Given the description of an element on the screen output the (x, y) to click on. 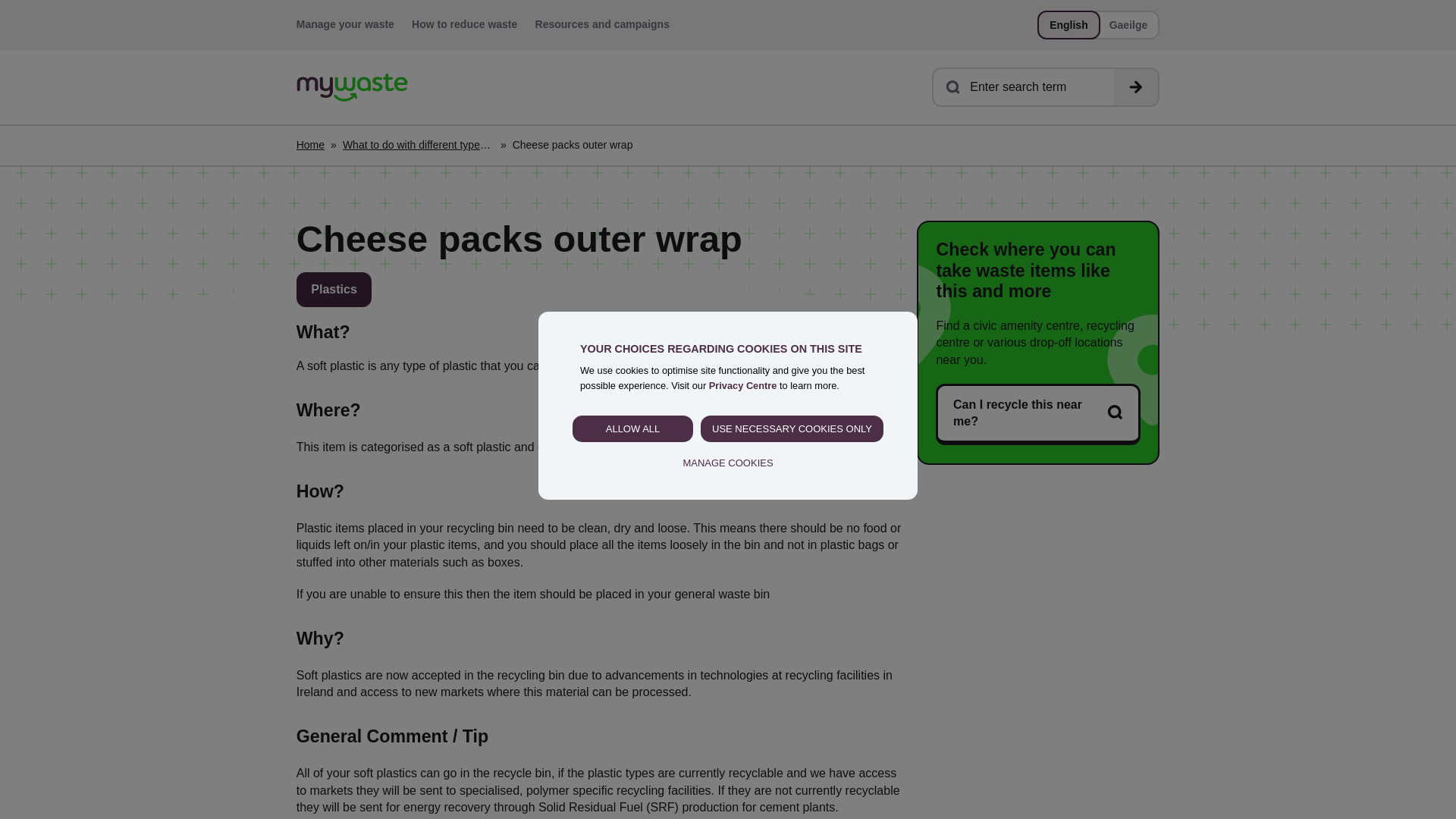
How to reduce waste (464, 24)
USE NECESSARY COOKIES ONLY (791, 429)
Home (352, 87)
Can I recycle this near me? (1038, 414)
ALLOW ALL (632, 429)
Gaeilge (1129, 25)
Resources and campaigns (602, 24)
Privacy Centre (743, 384)
Home (310, 145)
English (1069, 25)
Search (1135, 86)
MANAGE COOKIES (727, 462)
Manage your waste (345, 24)
What to do with different types of waste (418, 145)
